Given the description of an element on the screen output the (x, y) to click on. 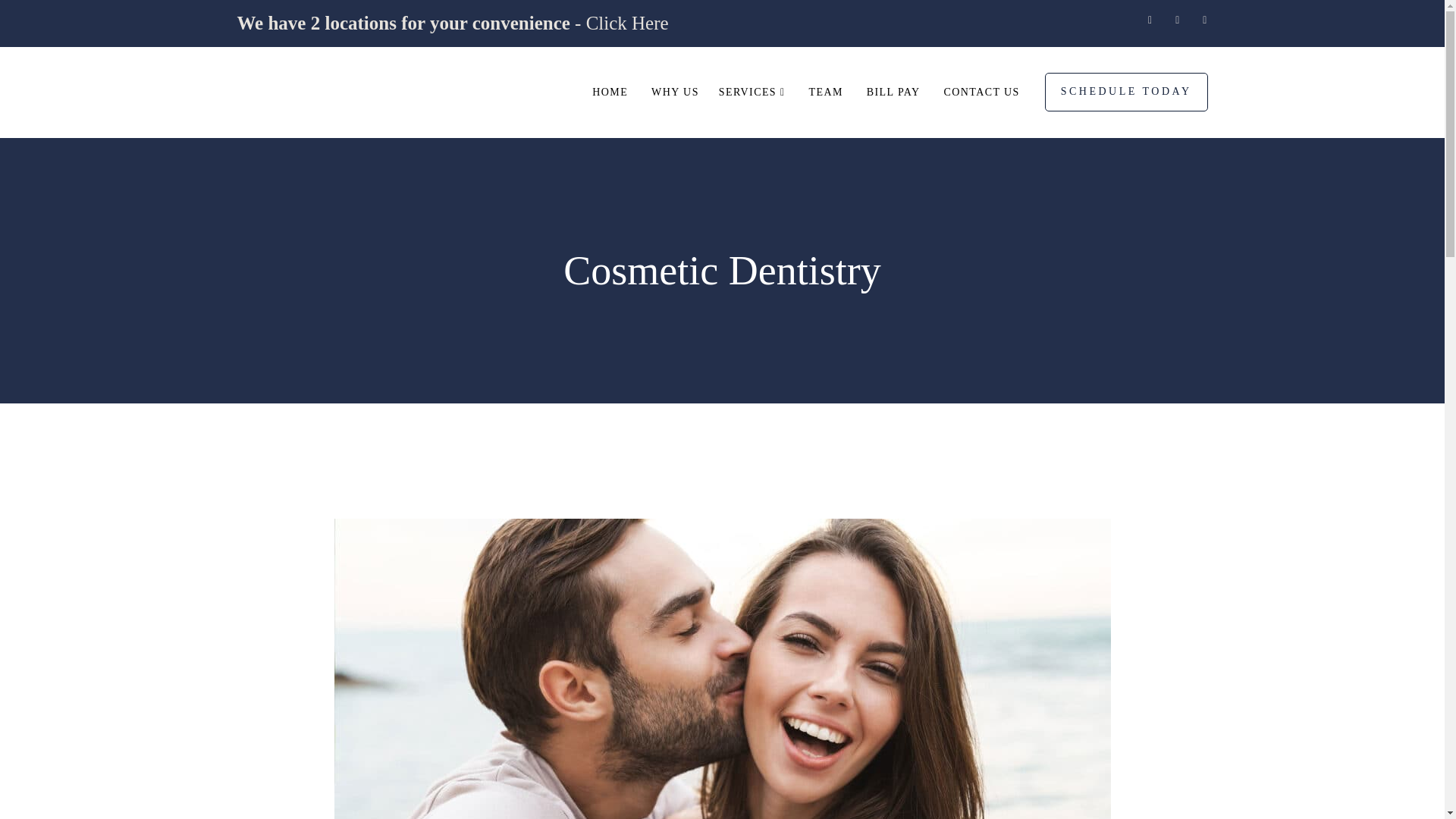
- Click Here (619, 23)
SERVICES (751, 92)
